Given the description of an element on the screen output the (x, y) to click on. 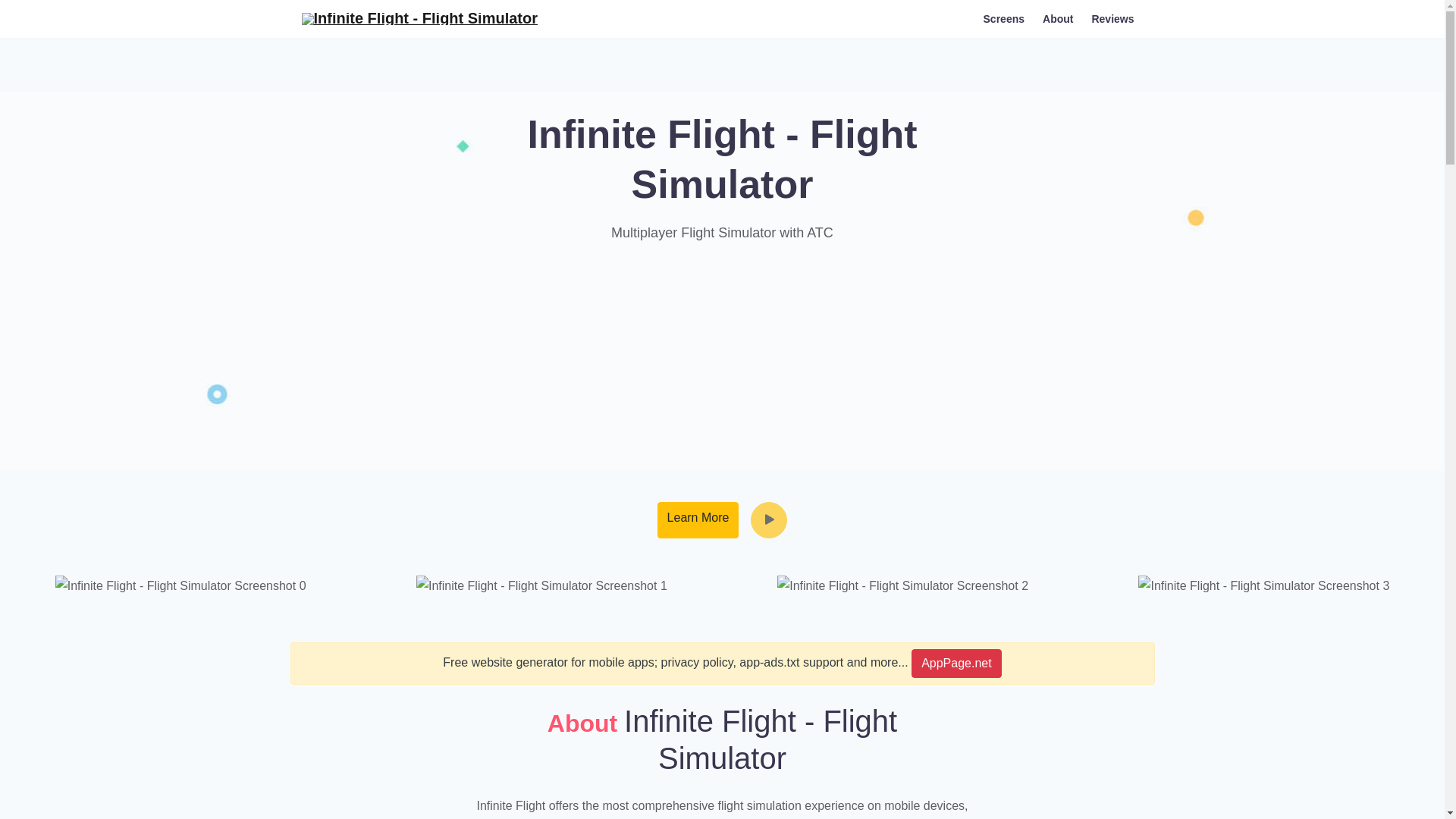
Reviews (1111, 18)
Screens (1003, 18)
AppPage.net (956, 663)
Screens (1003, 18)
Reviews (1111, 18)
Learn More (698, 520)
About (1057, 18)
Learn More (698, 520)
Learn More (698, 520)
About (1057, 18)
